Given the description of an element on the screen output the (x, y) to click on. 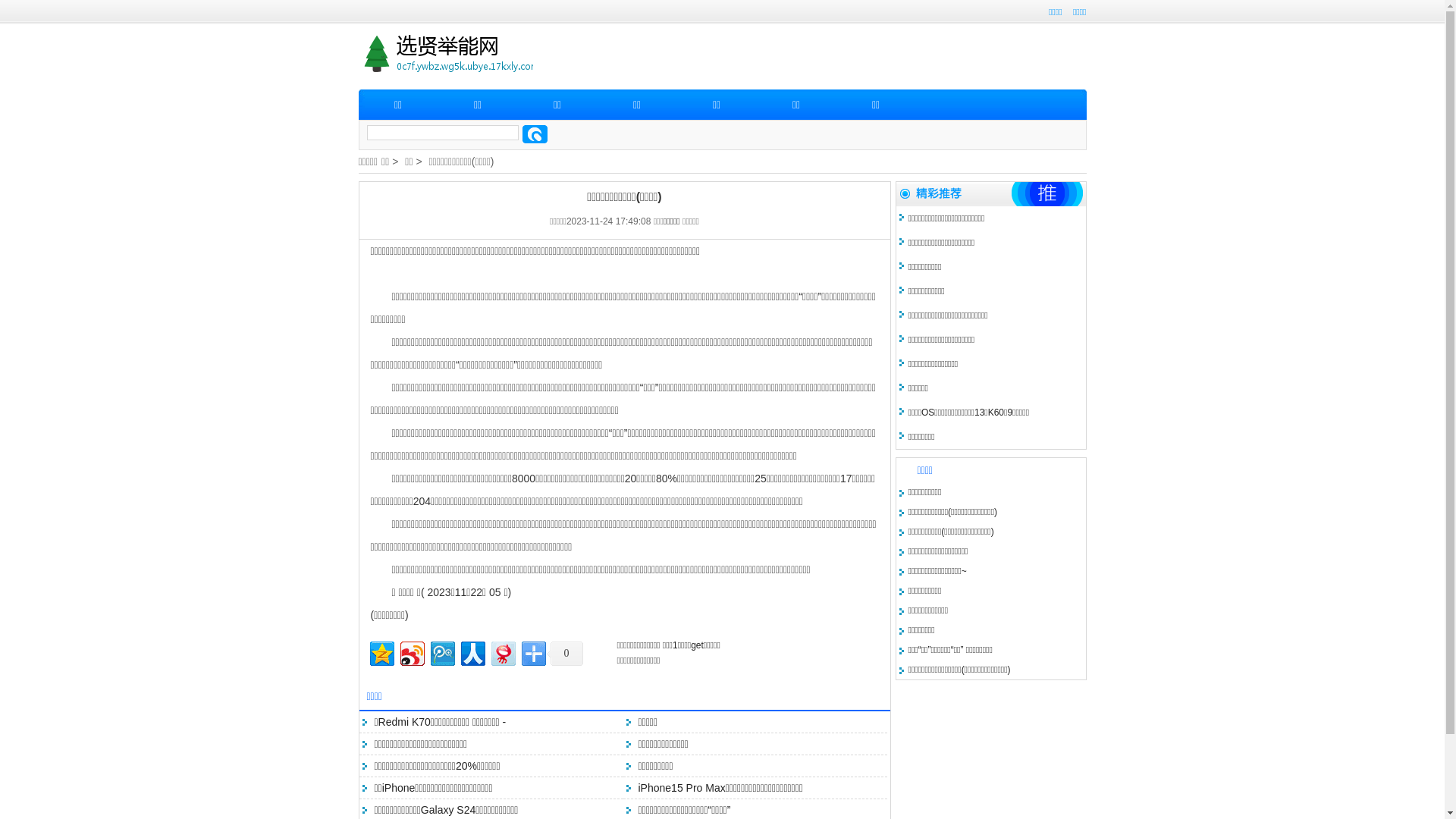
search Element type: hover (533, 134)
0 Element type: text (564, 653)
